Given the description of an element on the screen output the (x, y) to click on. 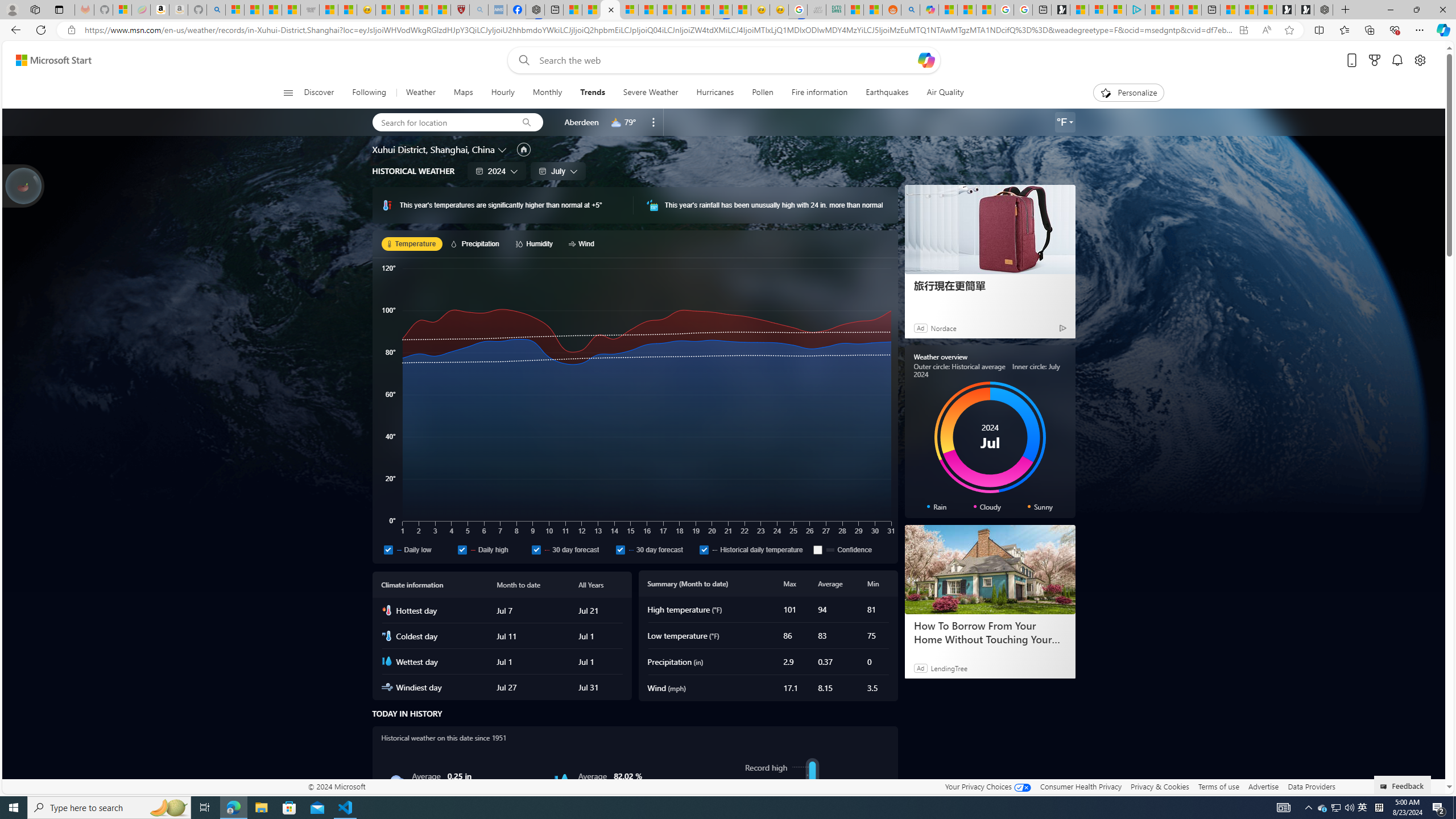
Class: feedback_link_icon-DS-EntryPoint1-1 (1384, 786)
Confidence (817, 549)
Daily low (417, 549)
Humidity (562, 781)
Maps (462, 92)
Daily low (387, 549)
